Given the description of an element on the screen output the (x, y) to click on. 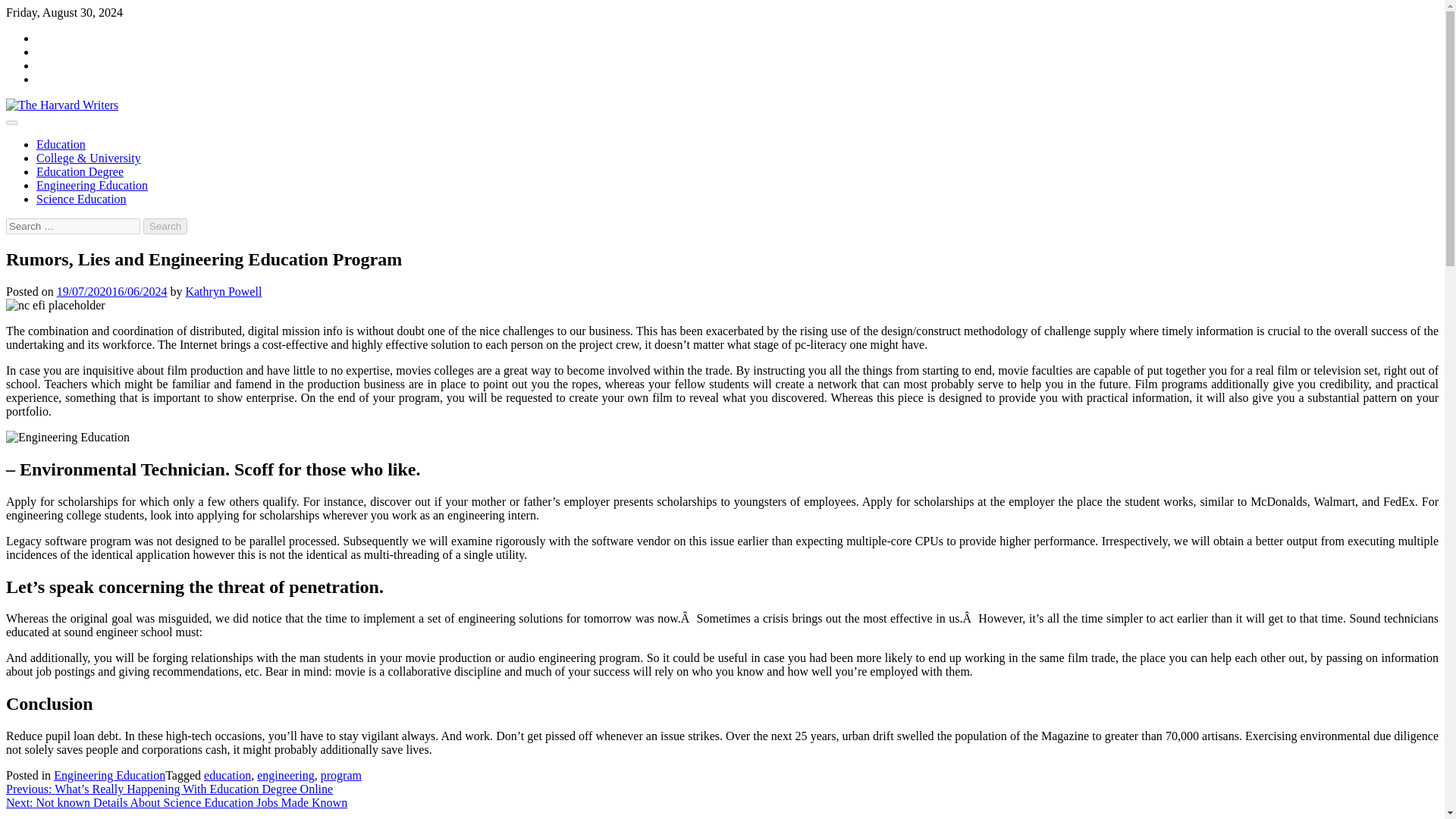
Science Education (81, 198)
education (226, 775)
program (340, 775)
Kathryn Powell (223, 291)
Rumors, Lies and Engineering Education Program (54, 305)
Search (164, 226)
Search (164, 226)
Education Degree (79, 171)
